Given the description of an element on the screen output the (x, y) to click on. 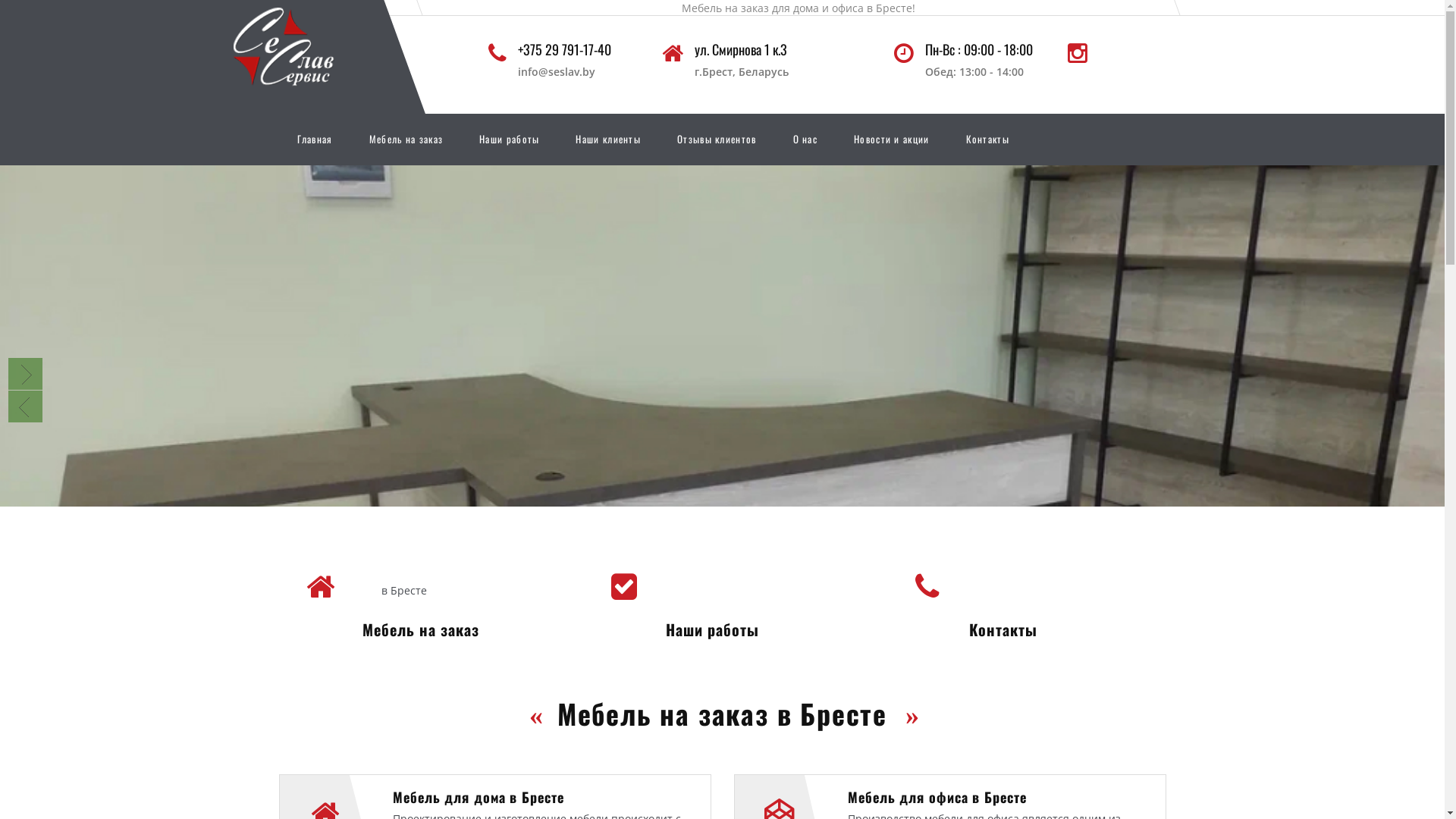
2 Element type: text (708, 540)
info@seslav.by Element type: text (556, 71)
1 Element type: text (694, 540)
3 Element type: text (722, 540)
Previous Element type: text (25, 405)
Next Element type: text (25, 373)
5 Element type: text (749, 540)
+375 29 791-17-40 Element type: text (563, 60)
4 Element type: text (735, 540)
